Given the description of an element on the screen output the (x, y) to click on. 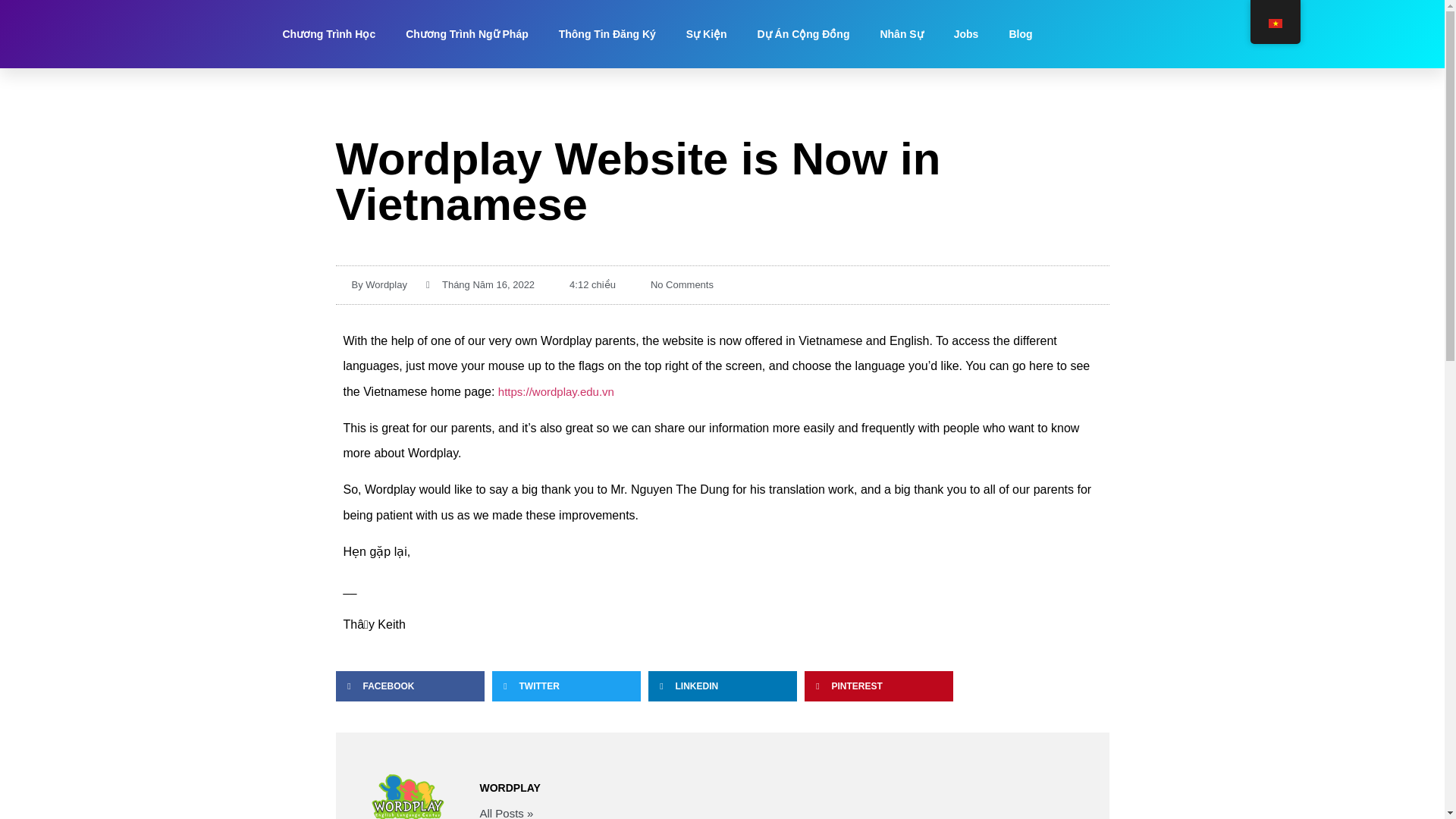
No Comments (673, 284)
Jobs (966, 33)
Blog (1019, 33)
WORDPLAY (776, 788)
By Wordplay (370, 284)
